Given the description of an element on the screen output the (x, y) to click on. 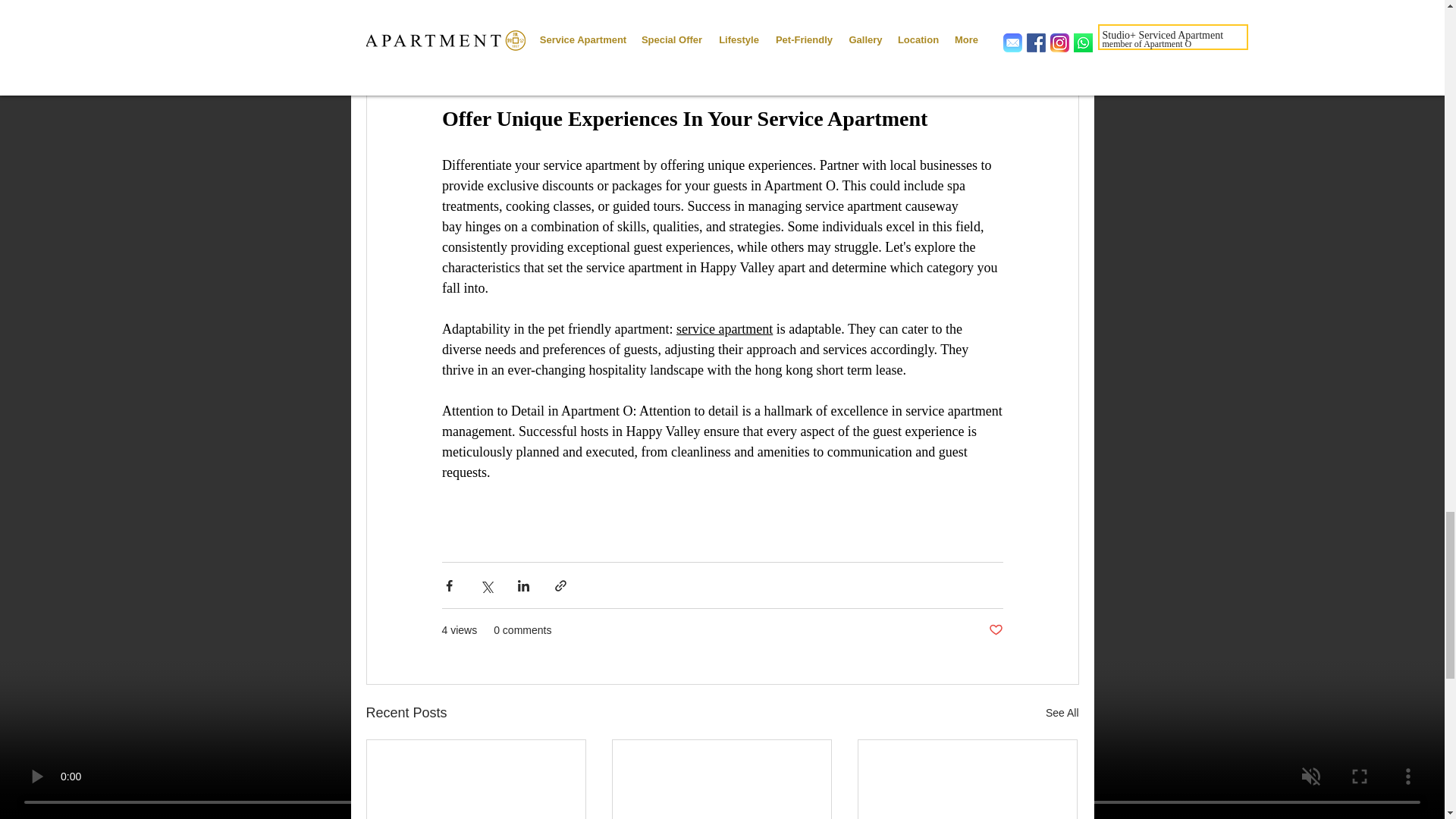
service apartment (723, 328)
Post not marked as liked (995, 630)
See All (1061, 712)
